Given the description of an element on the screen output the (x, y) to click on. 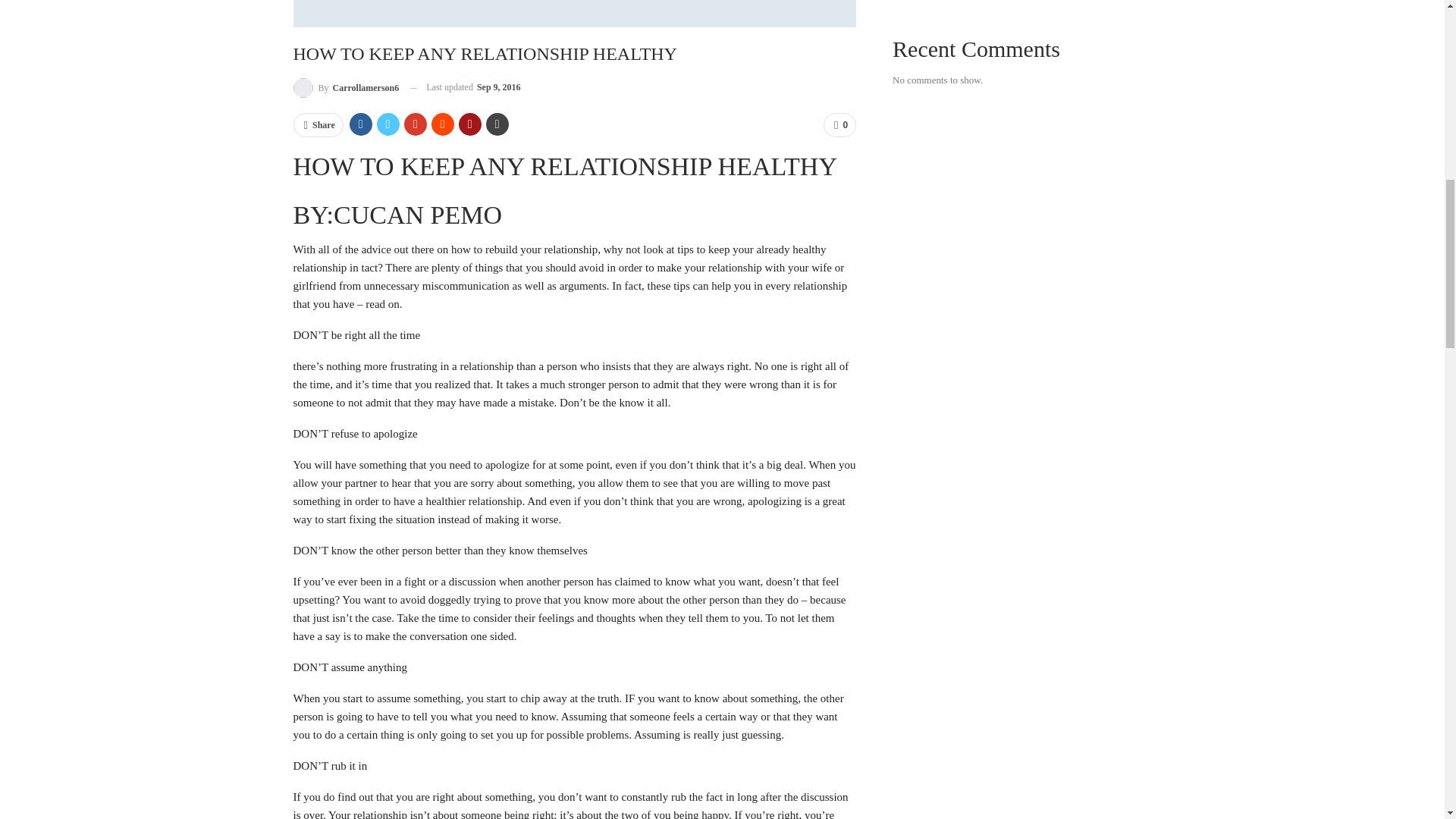
By Carrollamerson6 (345, 86)
Browse Author Articles (345, 86)
0 (840, 125)
